Given the description of an element on the screen output the (x, y) to click on. 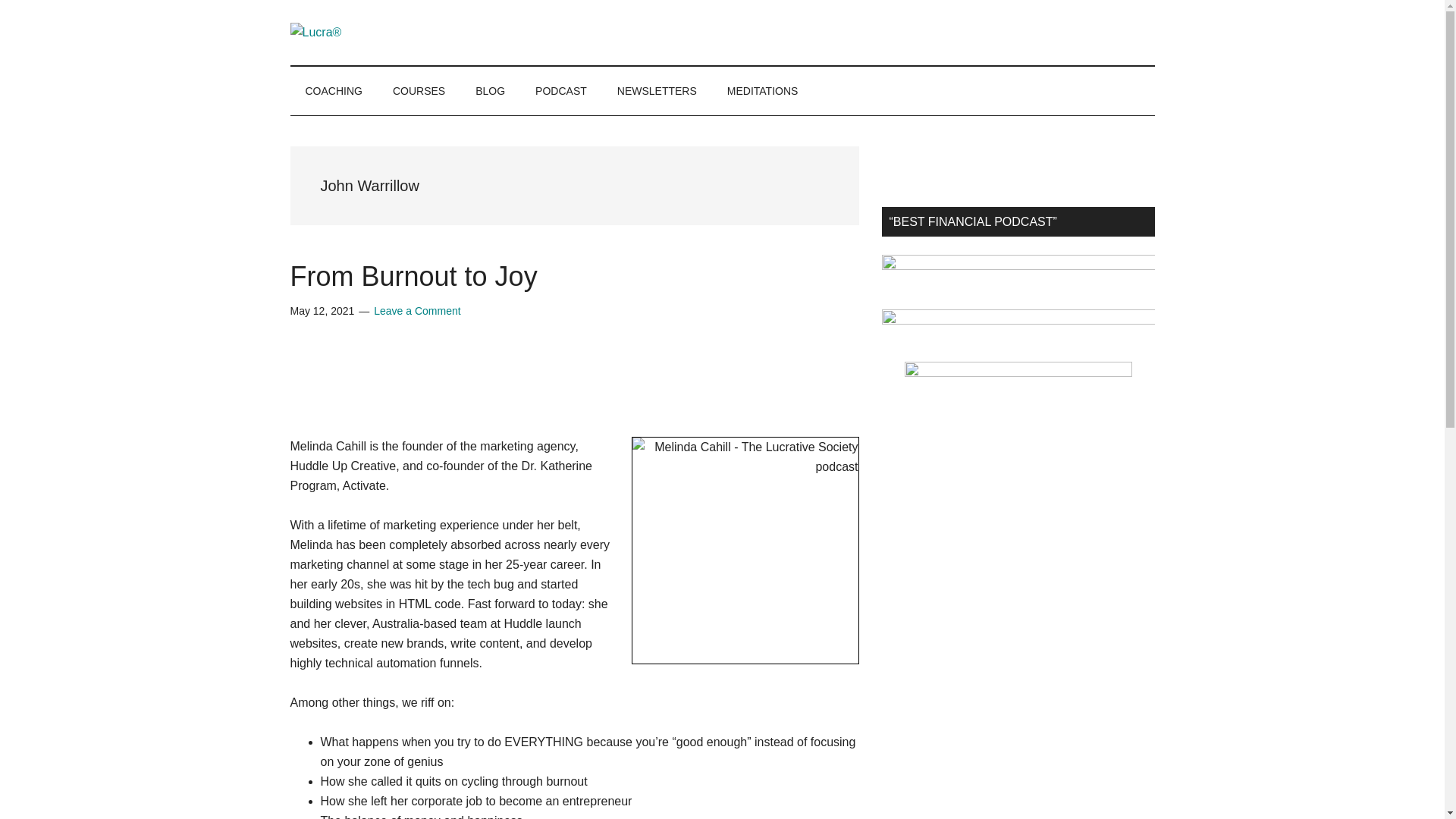
COACHING (333, 90)
NEWSLETTERS (656, 90)
MEDITATIONS (762, 90)
From Burnout to Joy (413, 276)
Leave a Comment (417, 310)
COURSES (418, 90)
PODCAST (560, 90)
BLOG (489, 90)
